Given the description of an element on the screen output the (x, y) to click on. 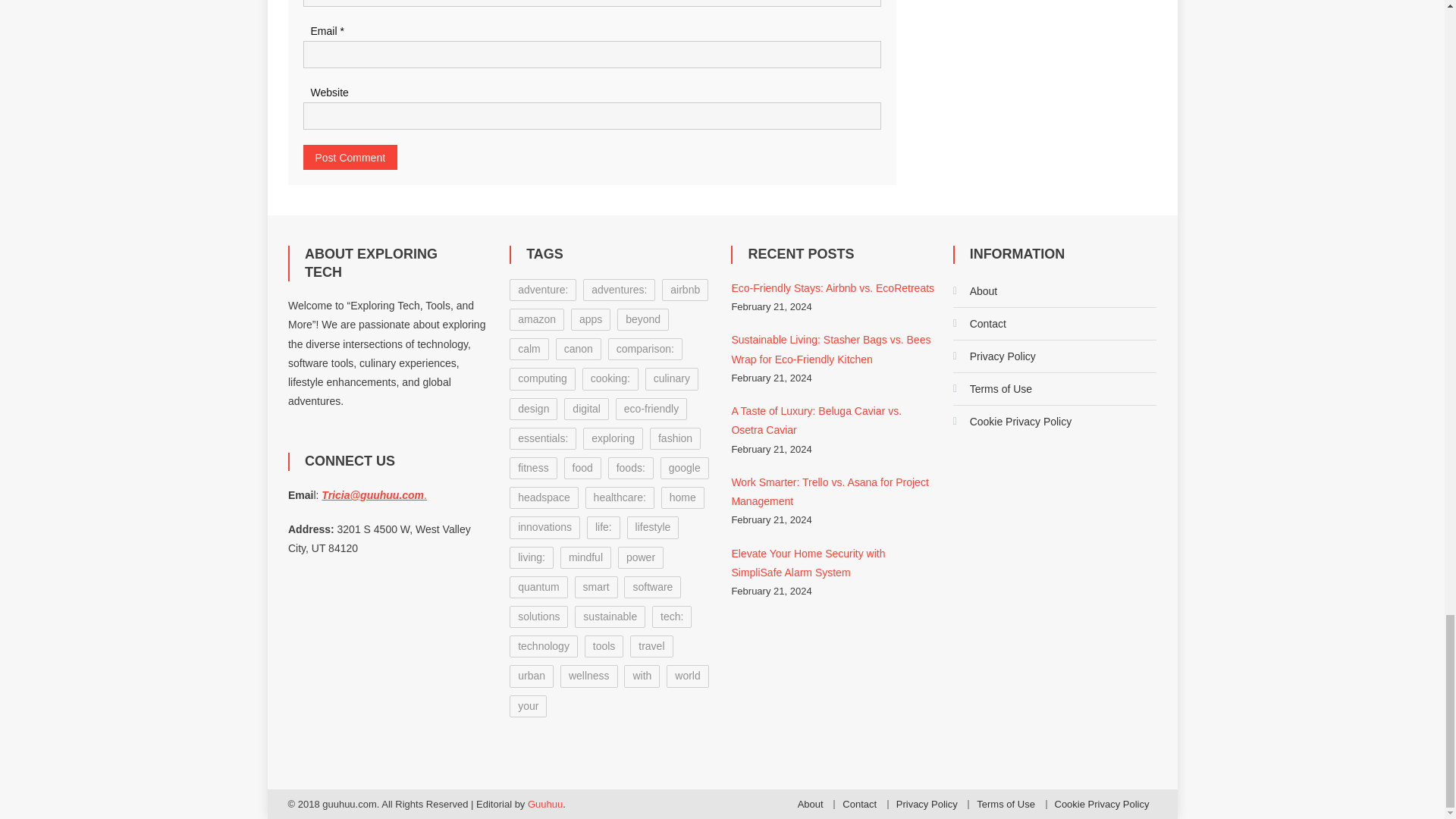
Post Comment (349, 156)
